Given the description of an element on the screen output the (x, y) to click on. 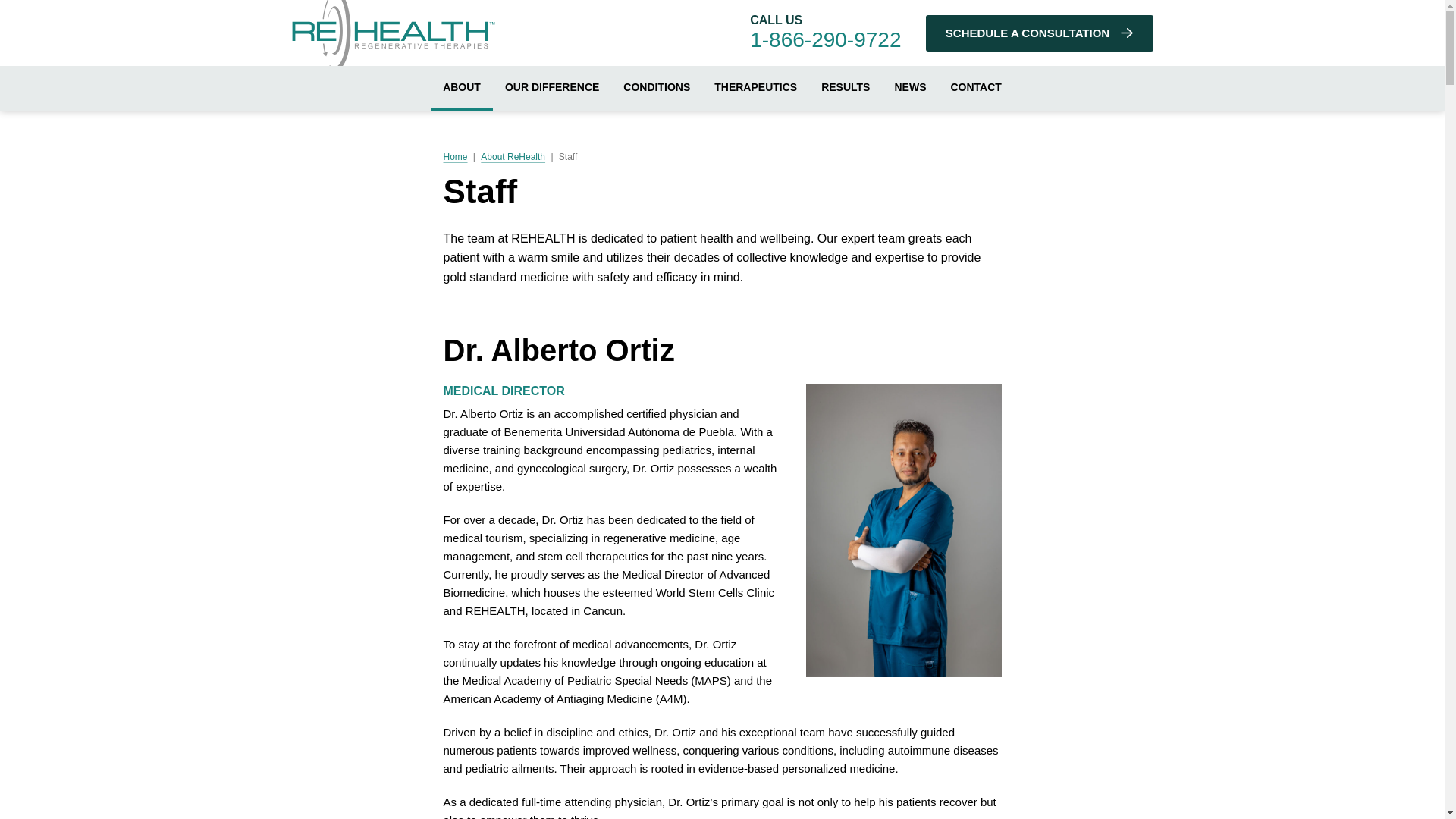
THERAPEUTICS (755, 88)
Home (456, 156)
SCHEDULE A CONSULTATION (1038, 33)
About ReHealth (512, 156)
CONTACT (975, 88)
CONDITIONS (656, 88)
ReHealth (393, 37)
NEWS (909, 88)
ABOUT (461, 88)
OUR DIFFERENCE (552, 88)
RESULTS (845, 88)
